Given the description of an element on the screen output the (x, y) to click on. 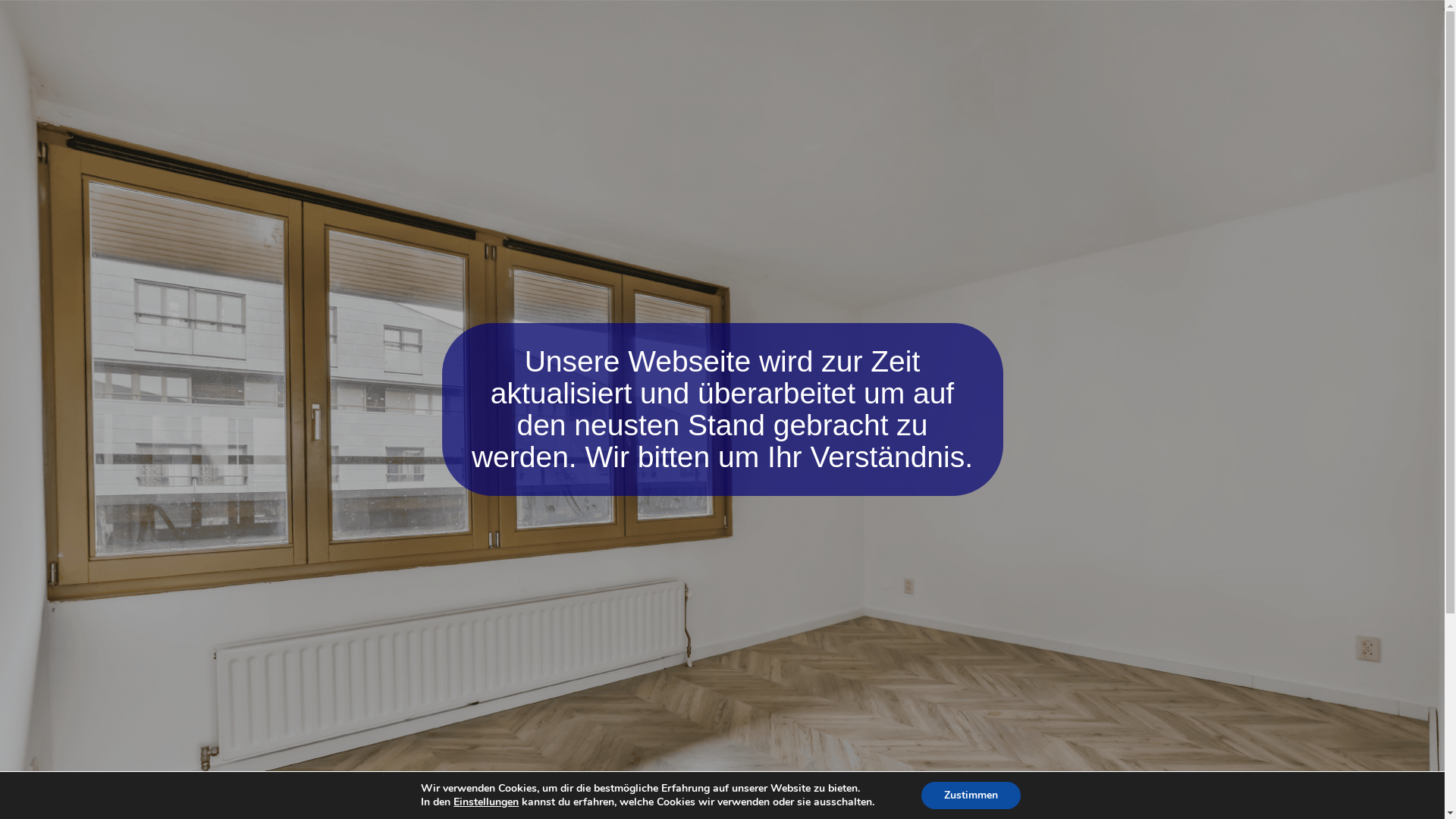
Einstellungen Element type: text (485, 802)
Zustimmen Element type: text (970, 795)
